Given the description of an element on the screen output the (x, y) to click on. 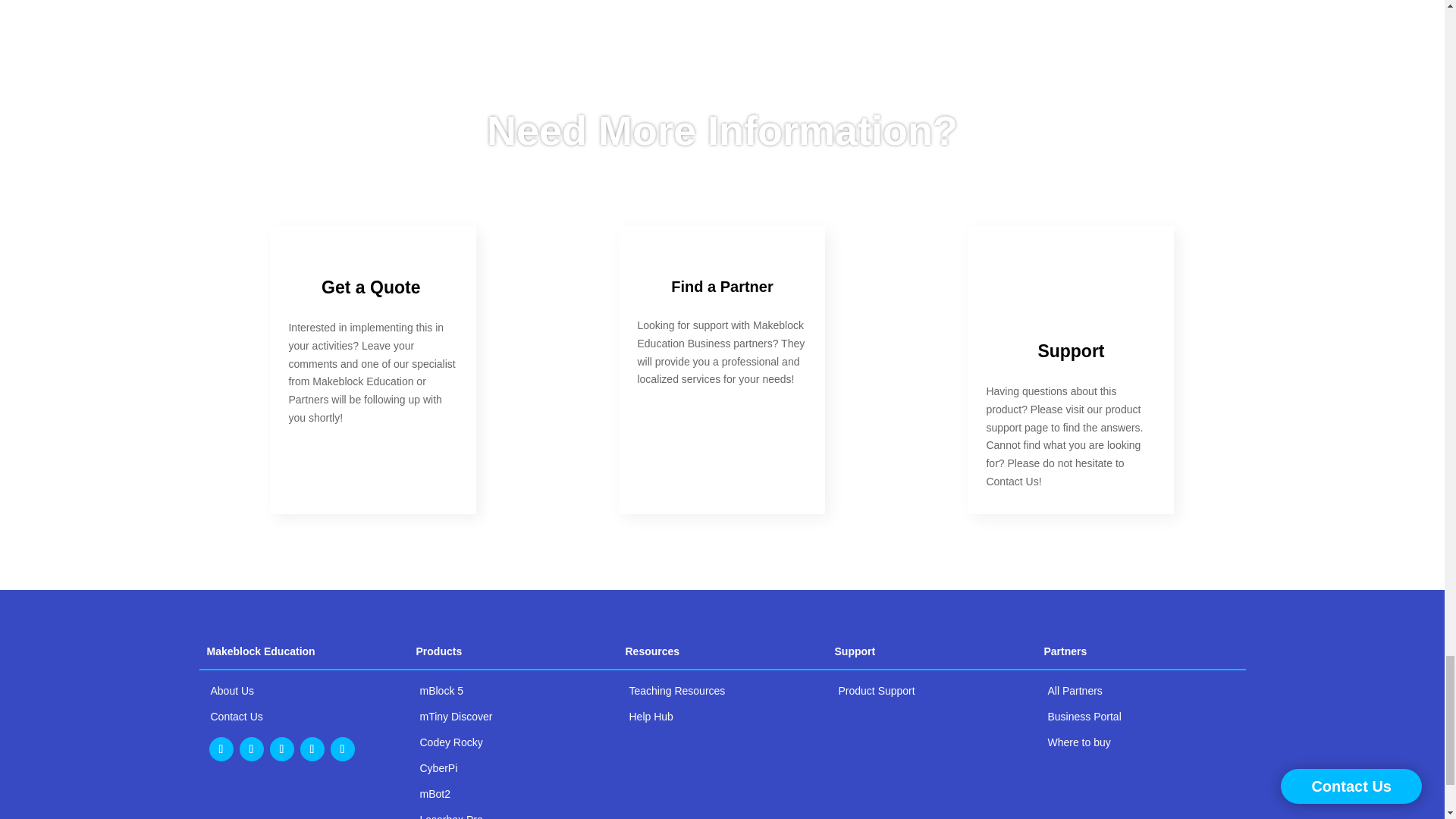
Follow on Facebook (311, 749)
Follow on Instagram (251, 749)
Follow on LinkedIn (220, 749)
Follow on TikTok (342, 749)
Follow on X (281, 749)
